Given the description of an element on the screen output the (x, y) to click on. 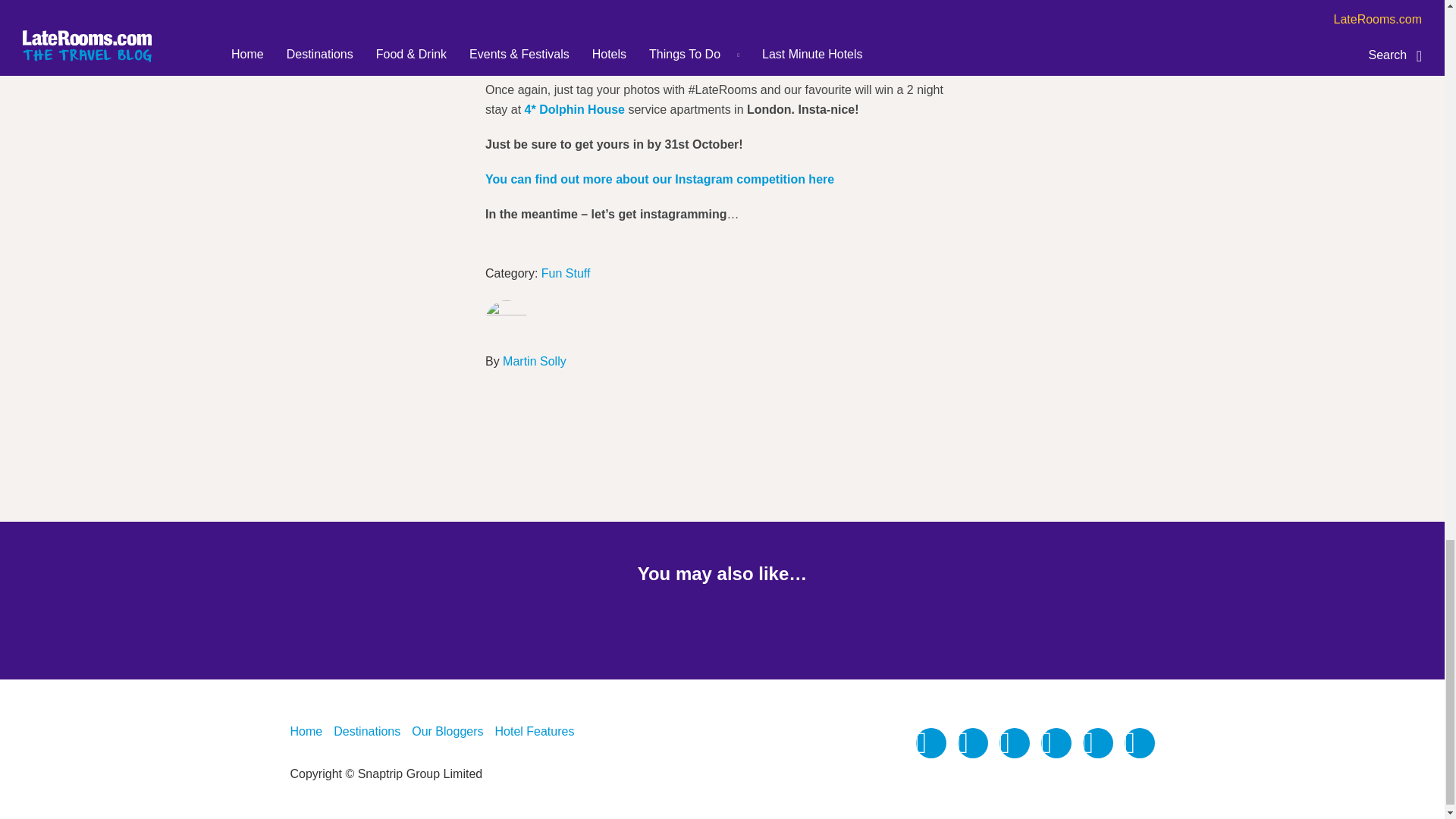
WIN A LUXURY HOTEL STAY (577, 11)
Hotel Features (534, 730)
Fun Stuff (566, 273)
Destinations (366, 730)
Home (305, 730)
Instagram Competition (577, 11)
You can find out more about our Instagram competition here (659, 178)
Instagram Competition (659, 178)
Dolphin House (574, 109)
Martin Solly (534, 361)
Our Bloggers (447, 730)
